Given the description of an element on the screen output the (x, y) to click on. 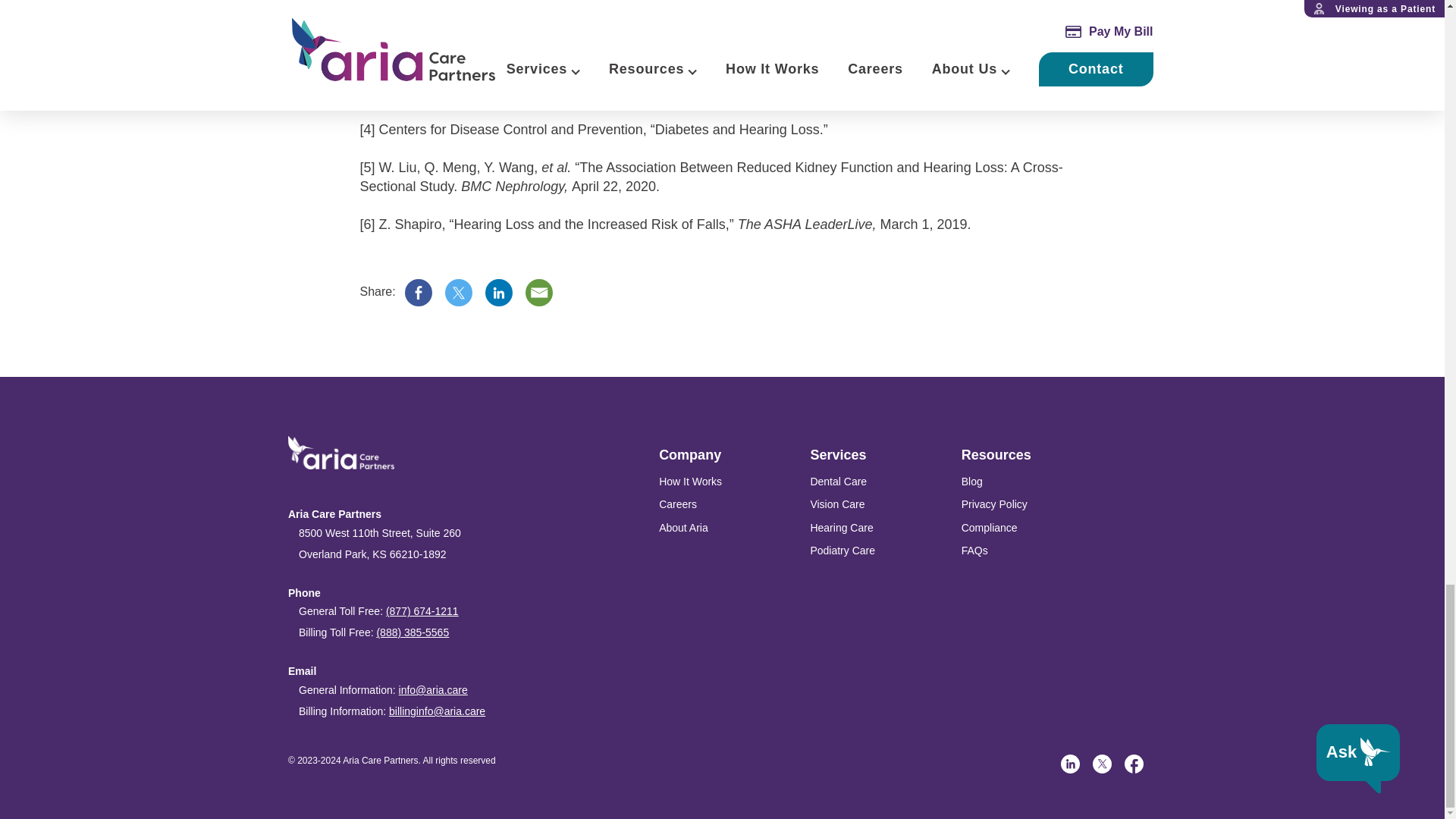
Facebook (418, 292)
Twitter (458, 292)
LinkedIn (1070, 763)
Facebook (1133, 763)
LinkedIn (498, 292)
Twitter (1102, 763)
Share to Facebook (418, 292)
